Given the description of an element on the screen output the (x, y) to click on. 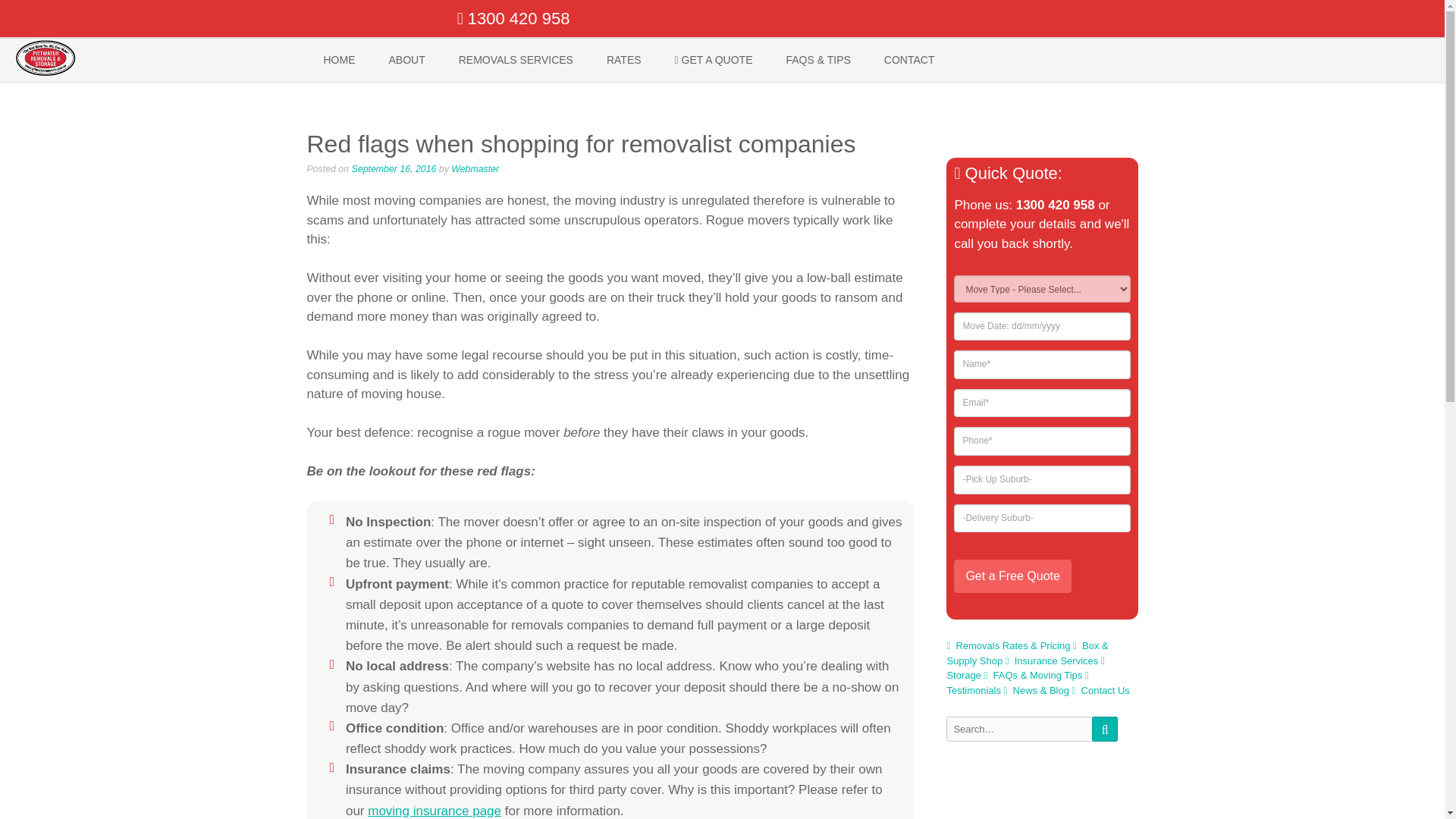
Search for: (1019, 729)
GET A QUOTE (714, 59)
moving insurance page (434, 810)
CONTACT (909, 59)
HOME (338, 59)
ABOUT (406, 59)
September 16, 2016 (394, 168)
REMOVALS SERVICES (515, 59)
1300 420 958 (513, 18)
RATES (623, 59)
Webmaster (475, 168)
Get a Free Quote (1012, 575)
